Given the description of an element on the screen output the (x, y) to click on. 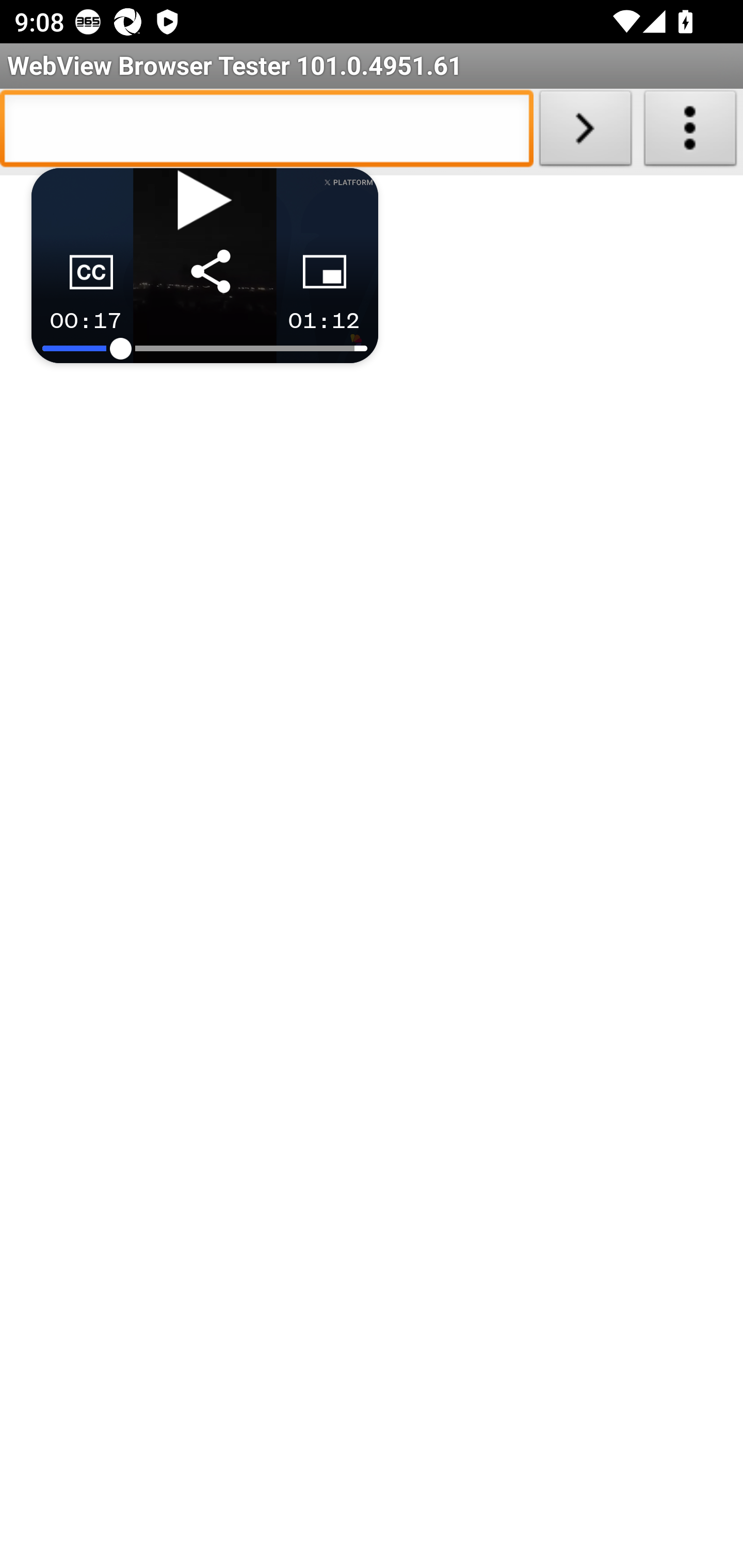
Load URL (585, 132)
About WebView (690, 132)
